Given the description of an element on the screen output the (x, y) to click on. 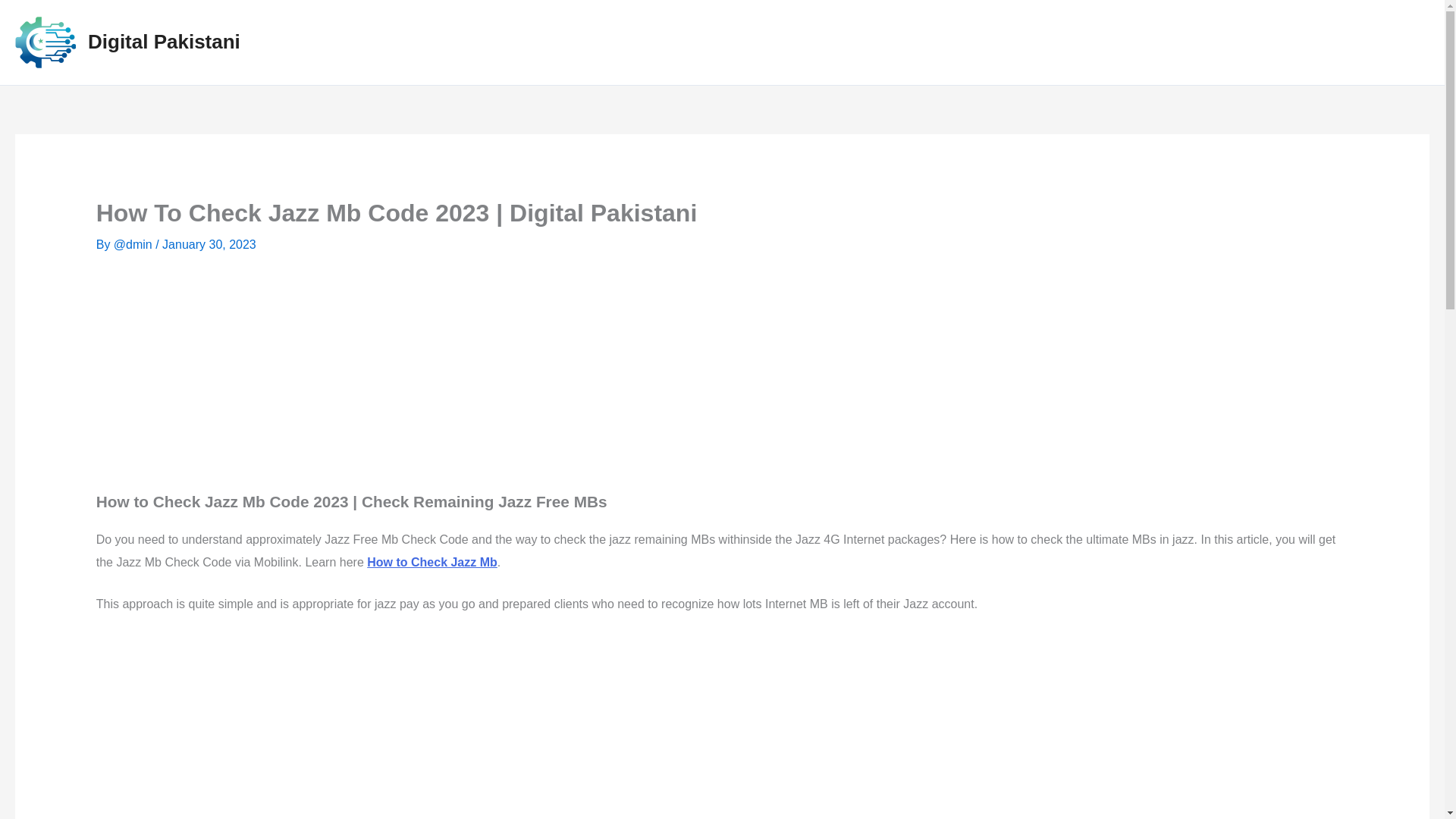
How to Check Jazz Mb (431, 562)
Digital Pakistani (163, 41)
